Given the description of an element on the screen output the (x, y) to click on. 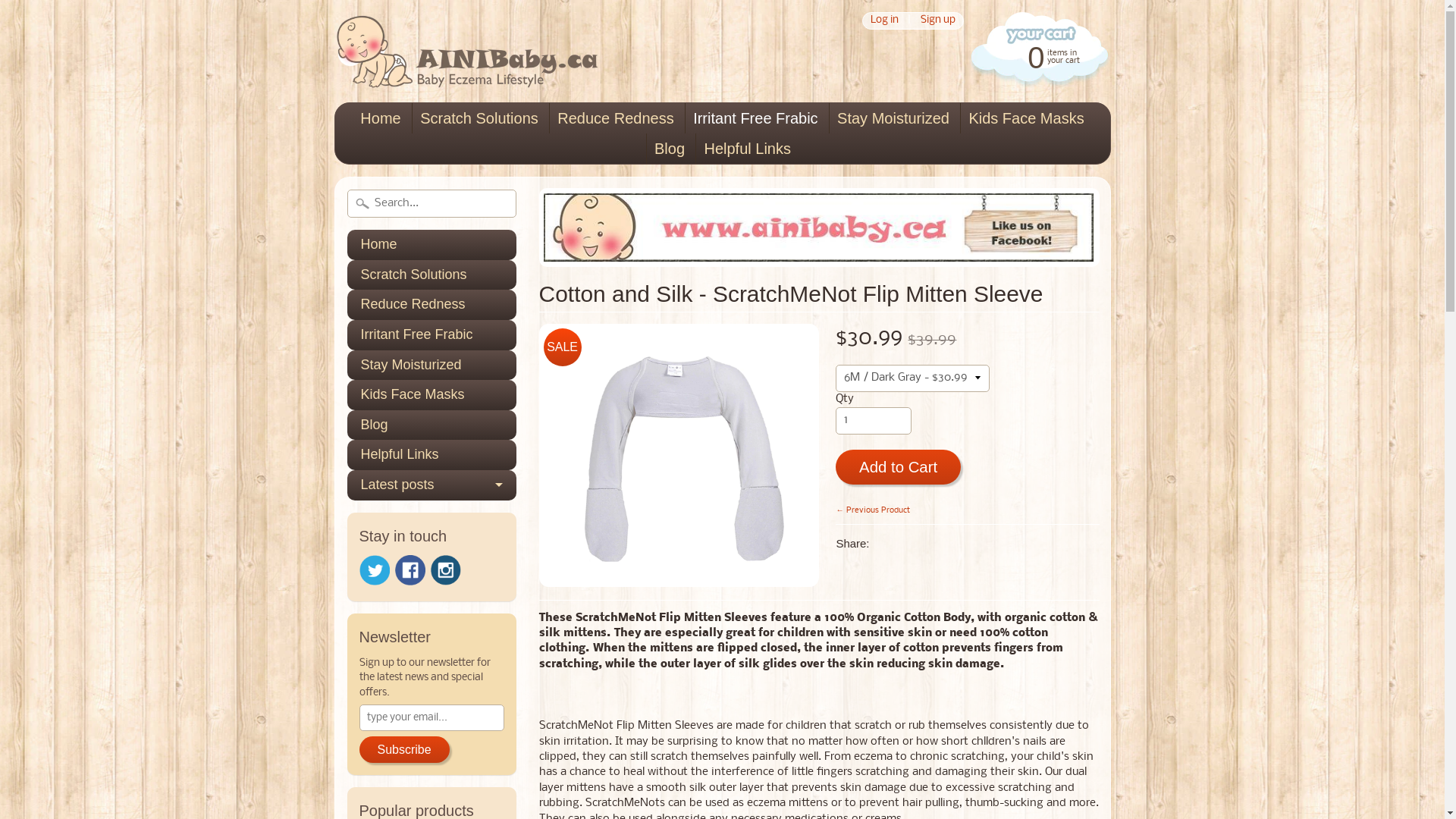
Kids Face Masks Element type: text (1025, 118)
Subscribe Element type: text (404, 749)
Scratch Solutions Element type: text (479, 118)
Stay Moisturized Element type: text (893, 118)
Helpful Links Element type: text (432, 454)
Facebook Element type: hover (409, 570)
Instagram Element type: hover (445, 570)
Irritant Free Frabic Element type: text (755, 118)
Add to Cart Element type: text (897, 466)
Aini Baby Element type: hover (466, 67)
Blog Element type: text (669, 148)
0
items in your cart Element type: text (1037, 56)
Reduce Redness Element type: text (432, 304)
Reduce Redness Element type: text (614, 118)
Kids Face Masks Element type: text (432, 394)
Irritant Free Frabic Element type: text (432, 335)
Sign up Element type: text (937, 20)
Helpful Links Element type: text (747, 148)
Home Element type: text (379, 118)
Log in Element type: text (883, 20)
Home Element type: text (432, 244)
Scratch Solutions Element type: text (432, 275)
Latest posts Element type: text (432, 485)
SALE Element type: text (679, 454)
Stay Moisturized Element type: text (432, 365)
Blog Element type: text (432, 425)
Twitter Element type: hover (374, 570)
